Given the description of an element on the screen output the (x, y) to click on. 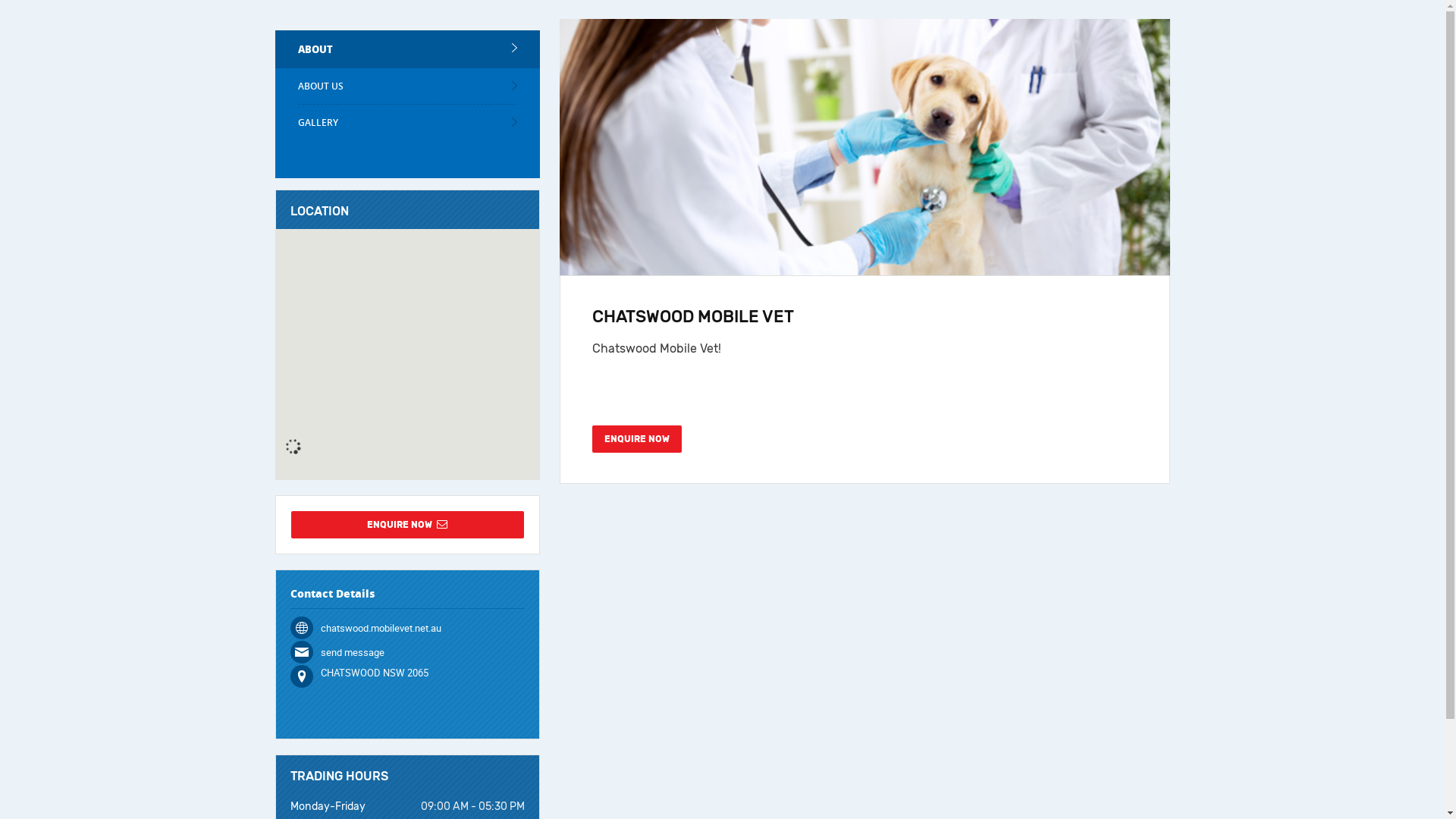
send message Element type: text (351, 651)
ENQUIRE NOW Element type: text (636, 438)
ENQUIRE NOW  Element type: text (407, 524)
GALLERY Element type: text (406, 122)
chatswood.mobilevet.net.au Element type: text (380, 627)
ABOUT Element type: text (406, 49)
ABOUT US Element type: text (406, 86)
